Given the description of an element on the screen output the (x, y) to click on. 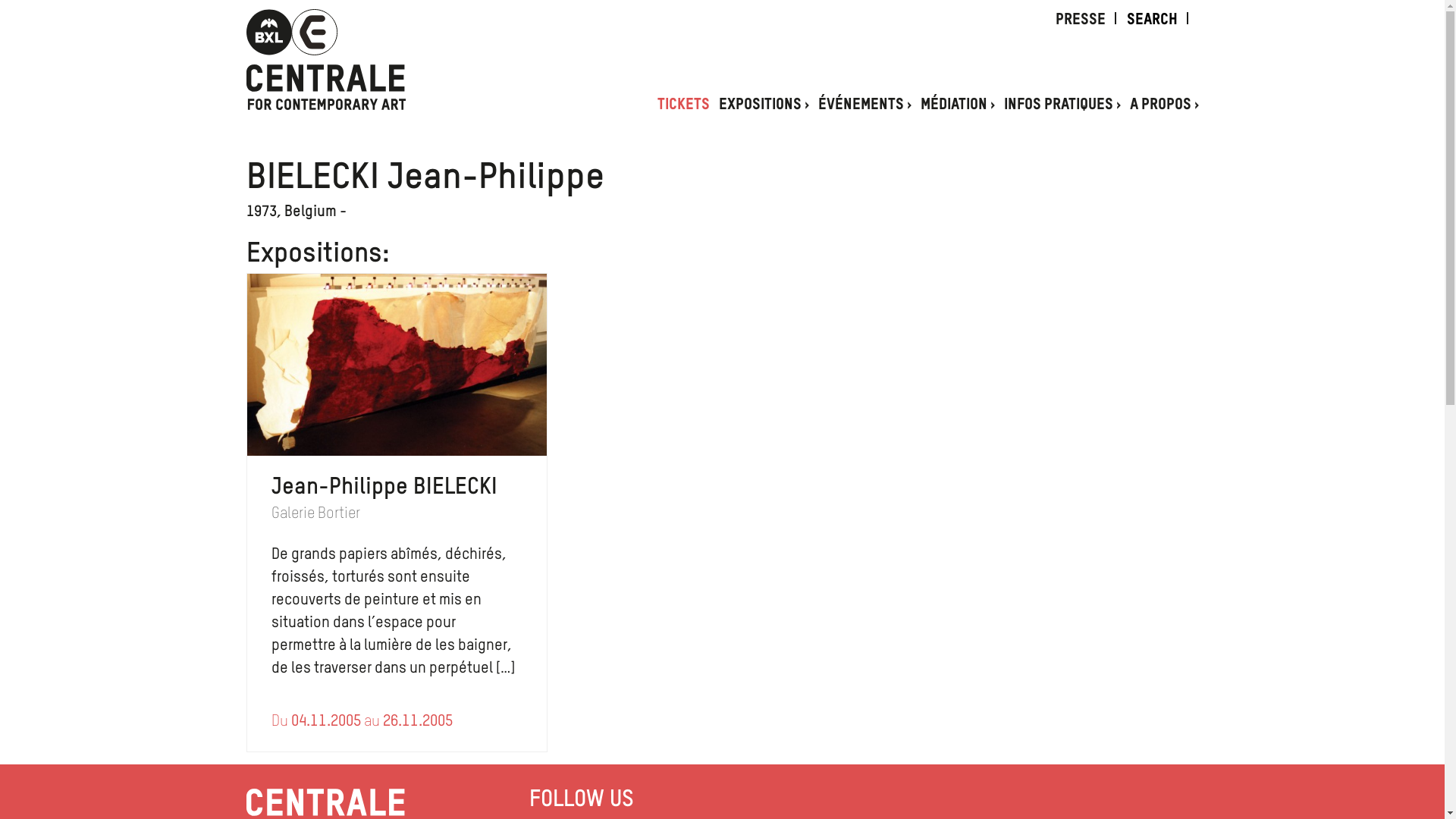
EXPOSITIONS Element type: text (763, 104)
PRESSE Element type: text (1080, 20)
Rechercher Element type: text (33, 9)
SEARCH Element type: text (1145, 20)
TICKETS Element type: text (682, 104)
INFOS PRATIQUES Element type: text (1062, 104)
A PROPOS Element type: text (1163, 104)
